Given the description of an element on the screen output the (x, y) to click on. 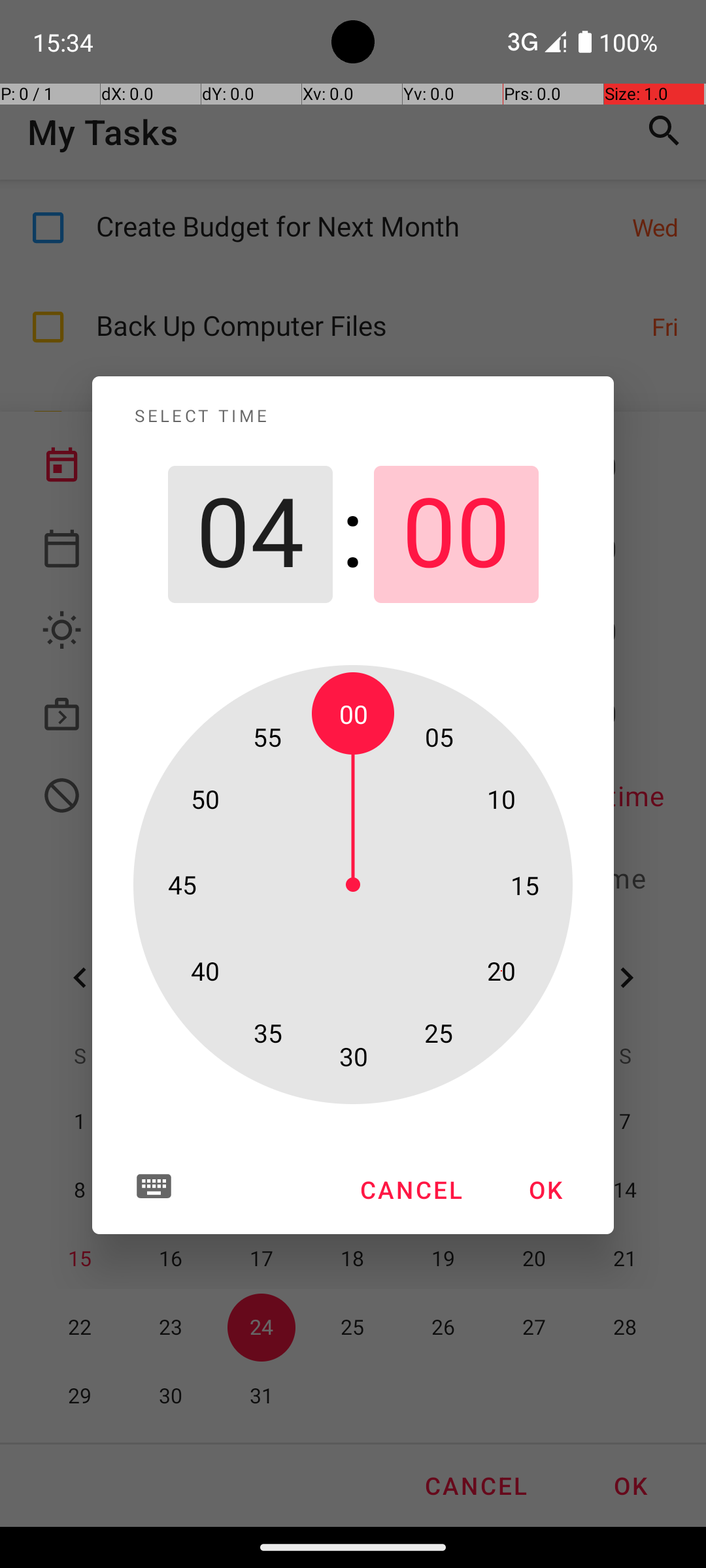
04 Element type: android.view.View (250, 534)
